Given the description of an element on the screen output the (x, y) to click on. 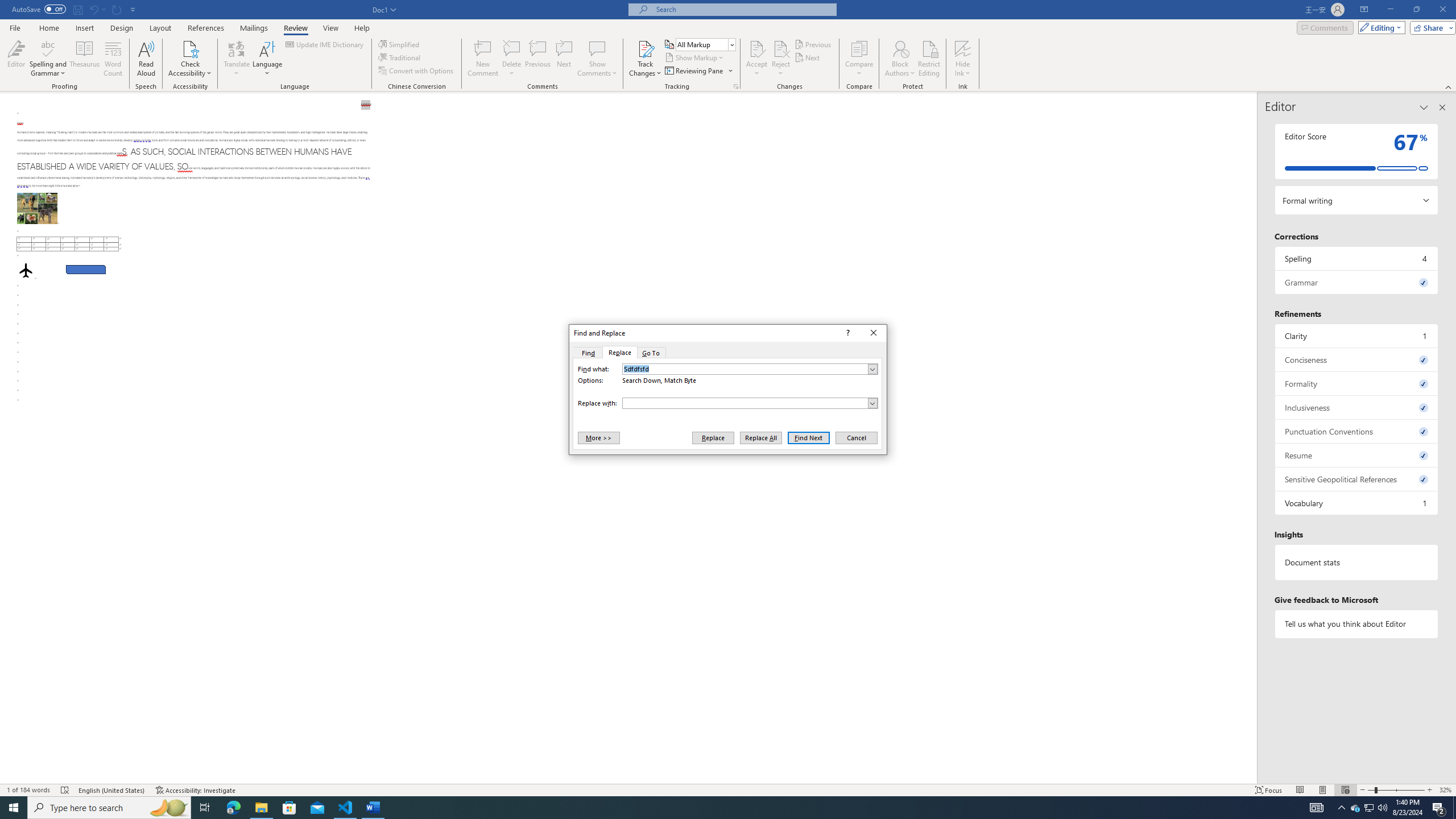
Thesaurus... (84, 58)
RichEdit Control (745, 403)
Show Comments (597, 58)
Clarity, 1 issue. Press space or enter to review items. (1356, 335)
Spelling and Grammar (48, 58)
Check Accessibility (189, 58)
Word Count (113, 58)
Track Changes (644, 58)
